Given the description of an element on the screen output the (x, y) to click on. 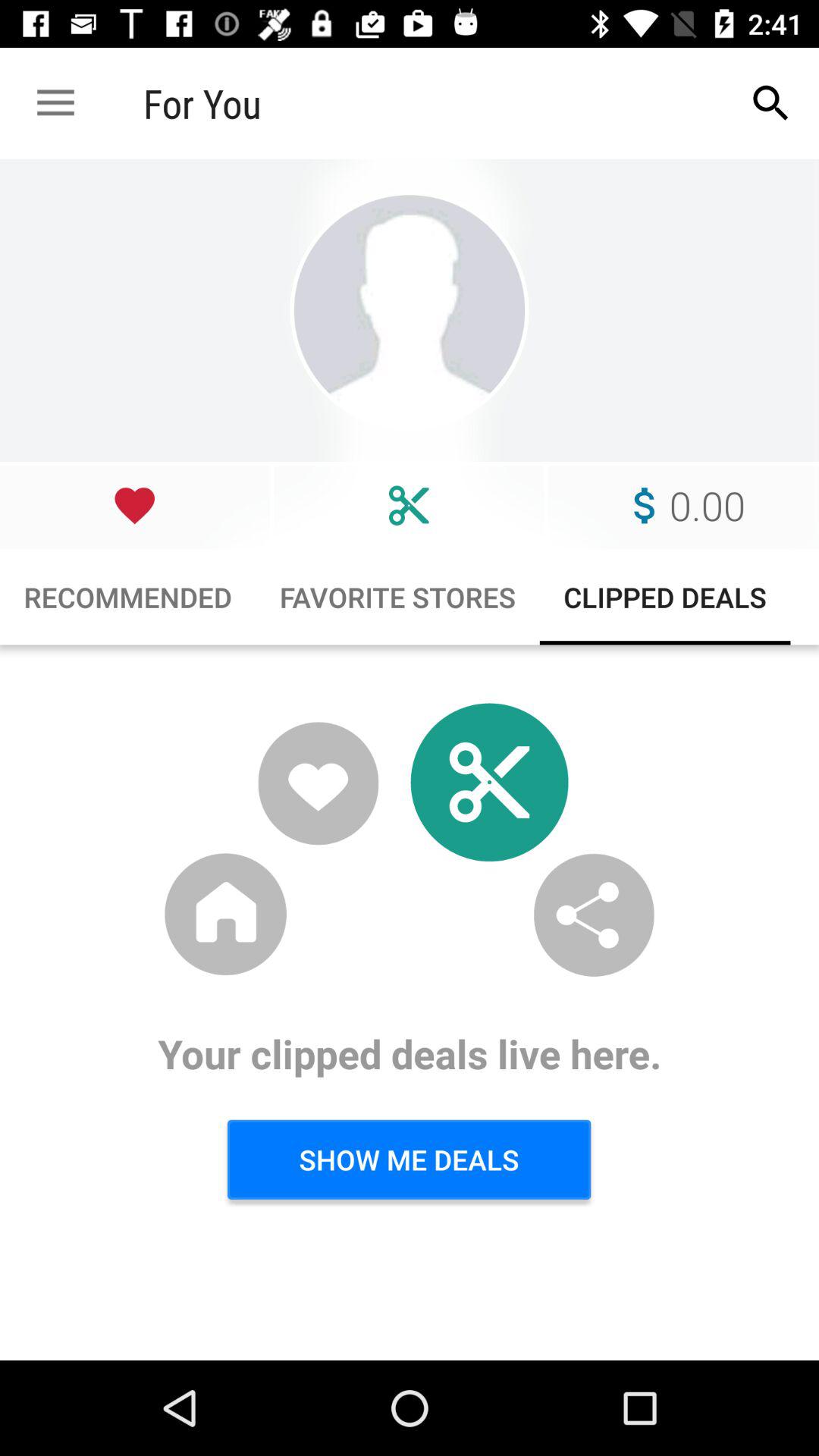
swipe until show me deals item (408, 1159)
